Given the description of an element on the screen output the (x, y) to click on. 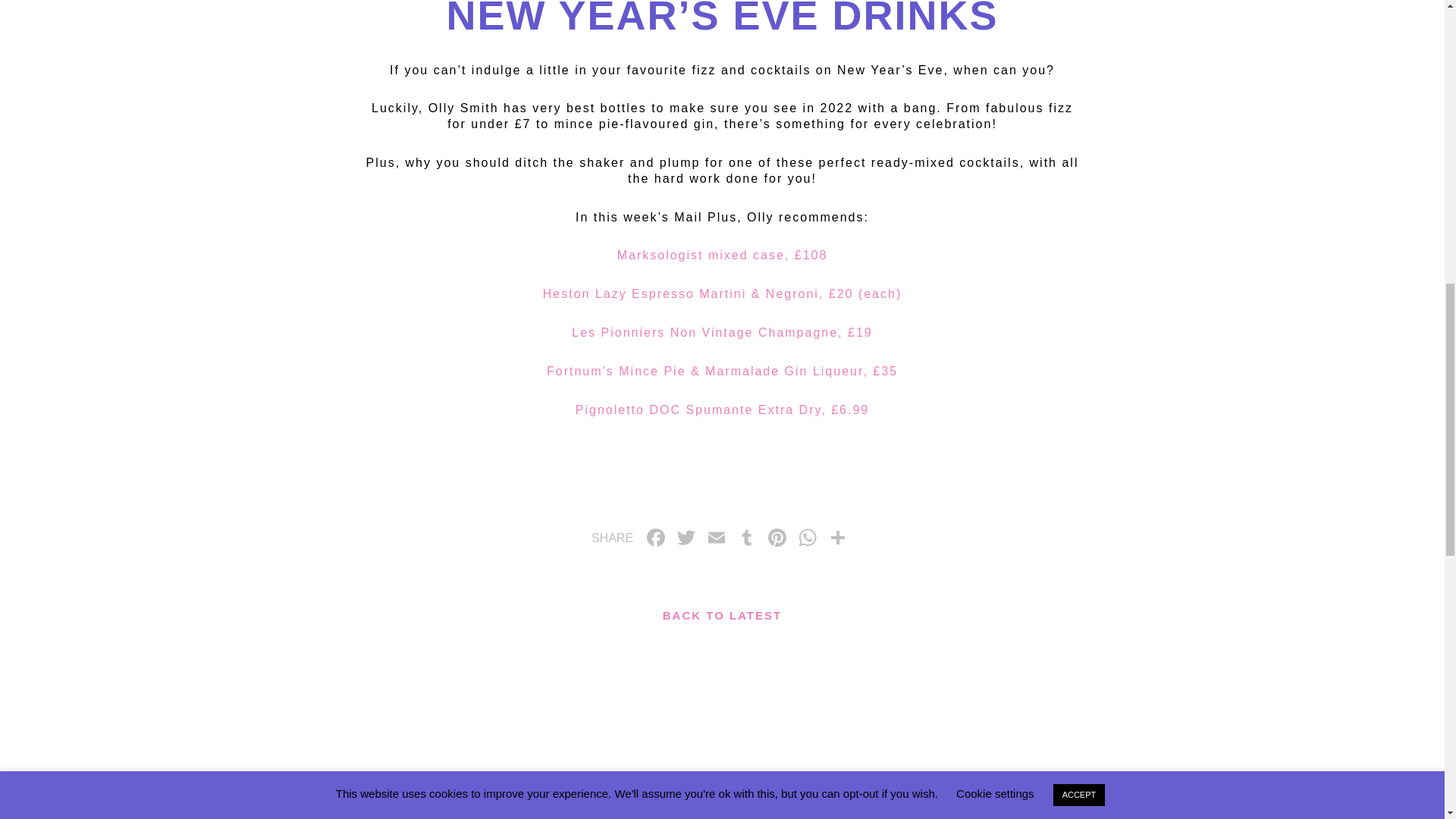
Email (716, 539)
WhatsApp (807, 539)
Facebook (655, 539)
Twitter (686, 539)
Pinterest (776, 539)
Tumblr (746, 539)
Twitter (686, 539)
Email (716, 539)
Share (837, 539)
Pinterest (776, 539)
Facebook (655, 539)
Tumblr (746, 539)
WhatsApp (807, 539)
BACK TO LATEST (721, 615)
